Given the description of an element on the screen output the (x, y) to click on. 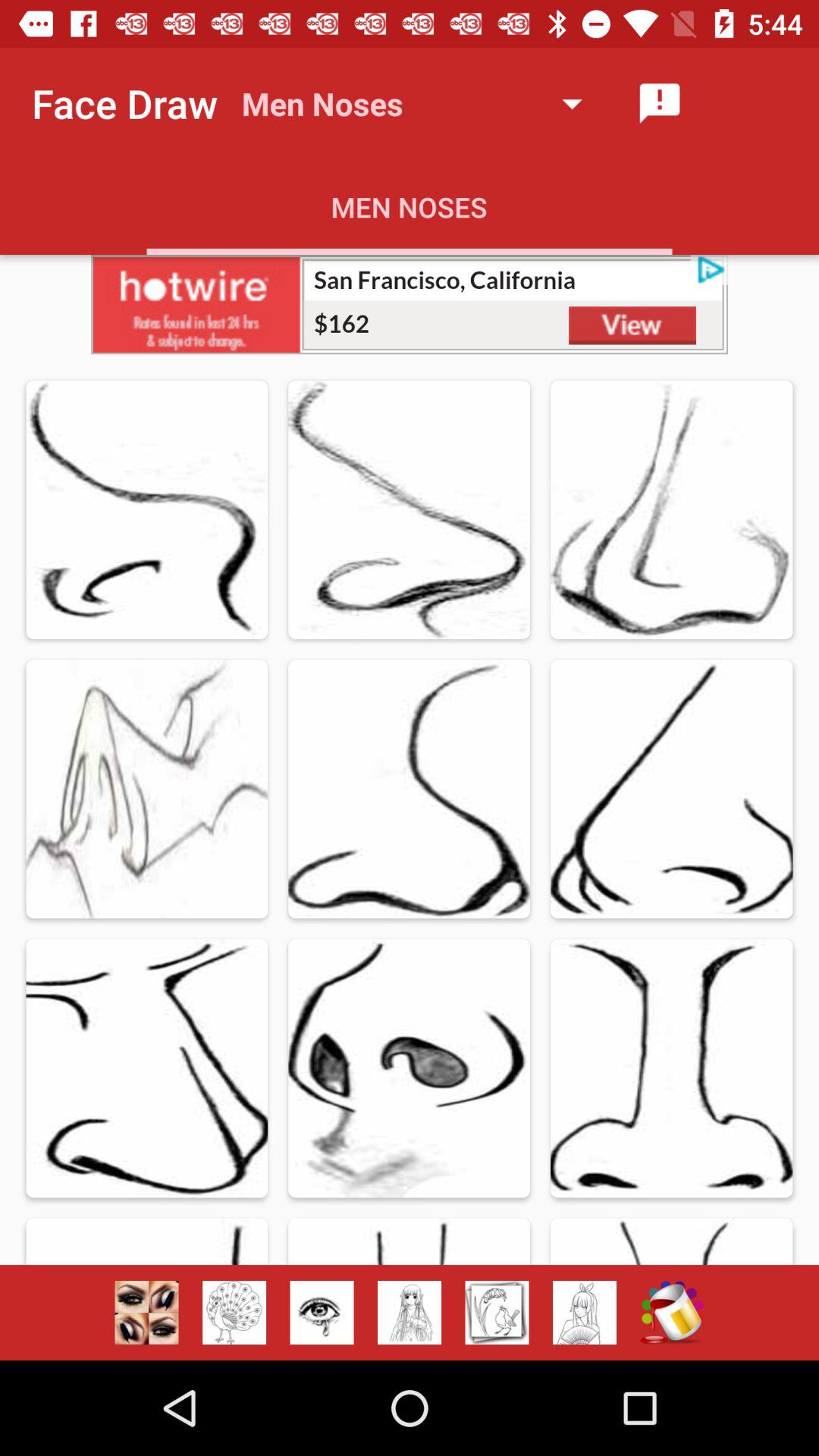
advertisement page (409, 304)
